Given the description of an element on the screen output the (x, y) to click on. 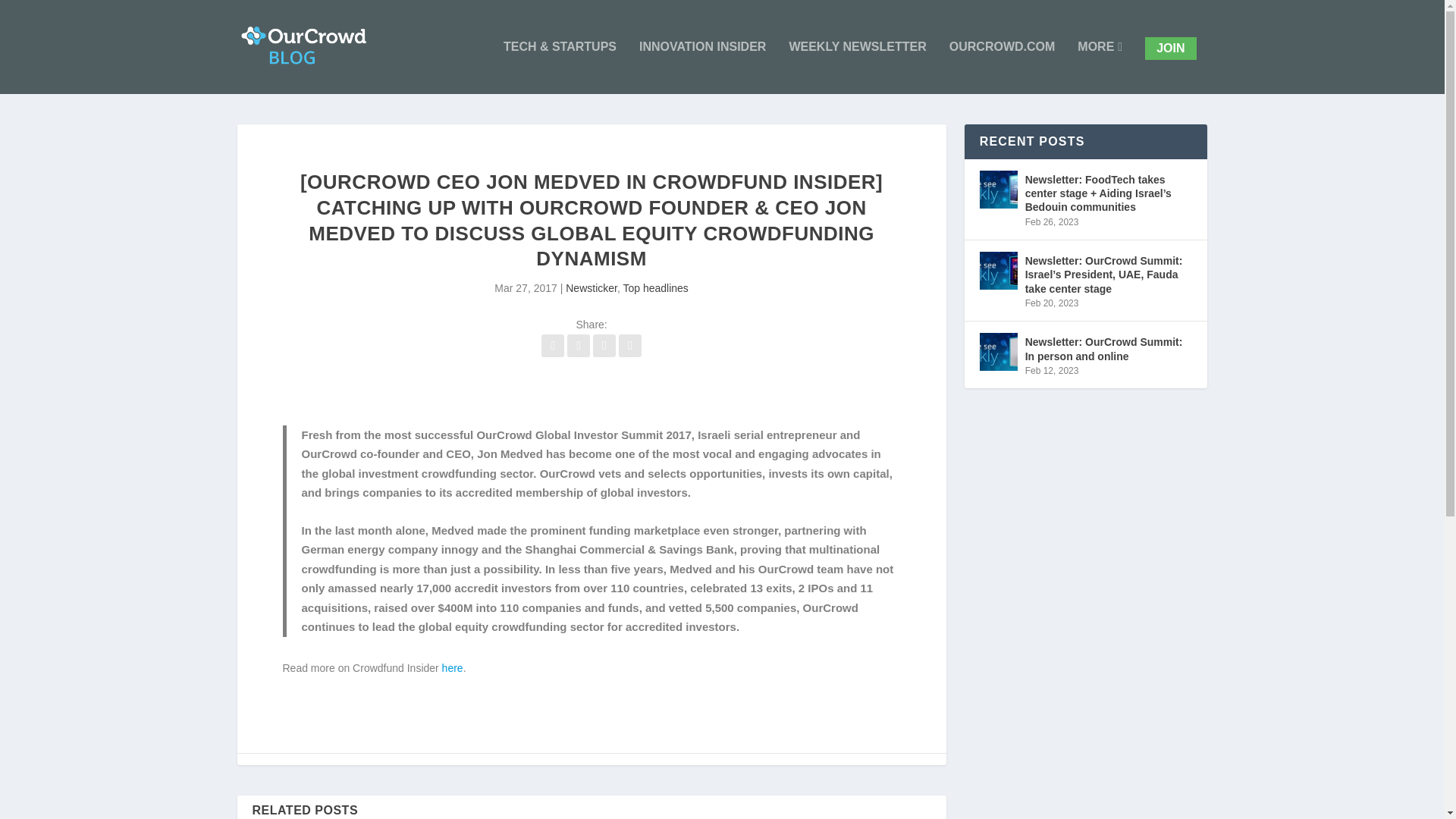
JOIN (1169, 47)
Top headlines (655, 287)
INNOVATION INSIDER (702, 67)
OURCROWD.COM (1002, 67)
Newsletter: OurCrowd Summit: In person and online (998, 351)
Newsticker (591, 287)
WEEKLY NEWSLETTER (857, 67)
here (452, 667)
